Given the description of an element on the screen output the (x, y) to click on. 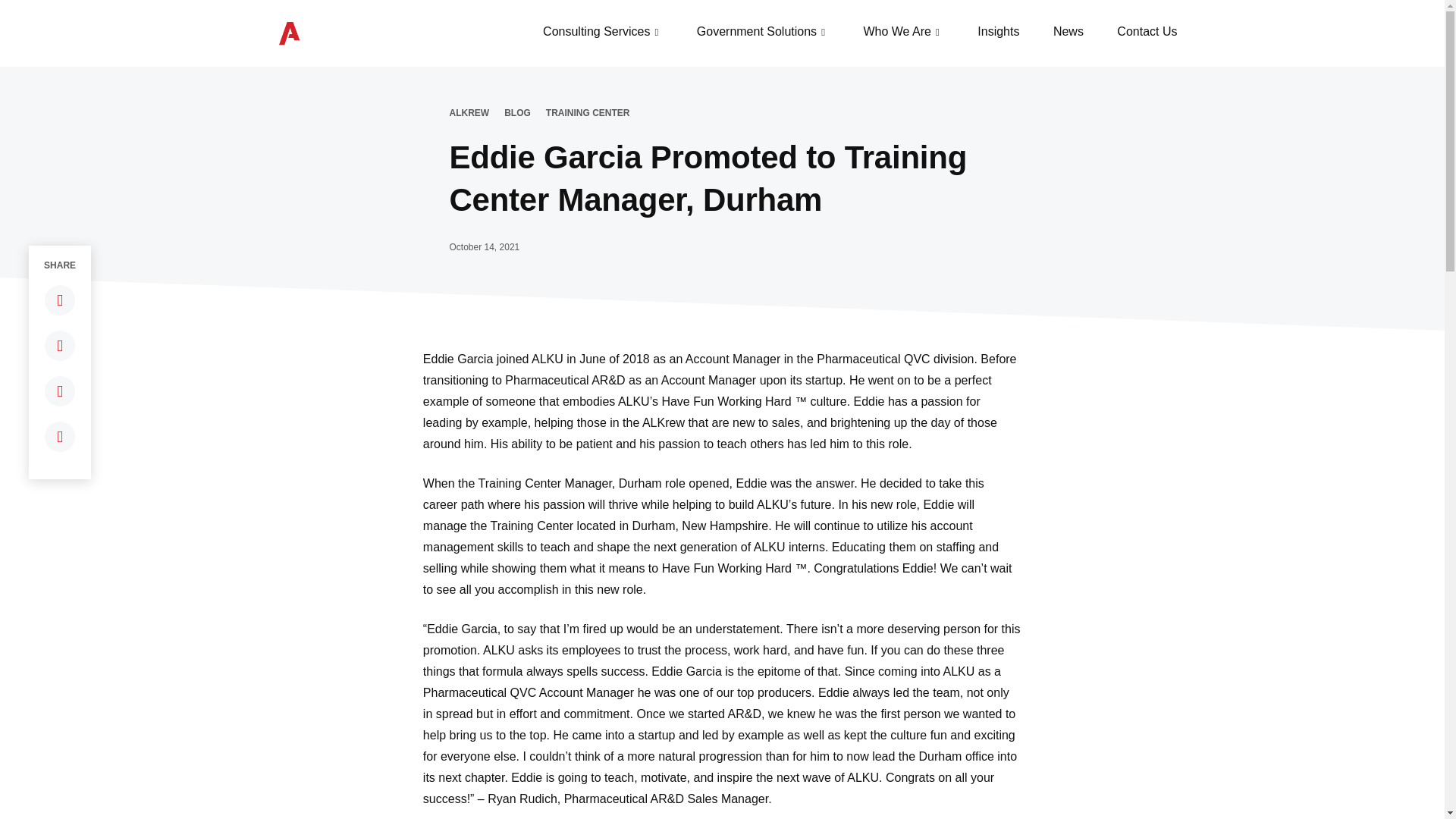
open Consulting Services menu (655, 32)
Who We Are (897, 31)
open Government Solutions menu (822, 32)
open Who We Are menu (937, 32)
Government Solutions (756, 31)
Consulting Services (596, 31)
